Given the description of an element on the screen output the (x, y) to click on. 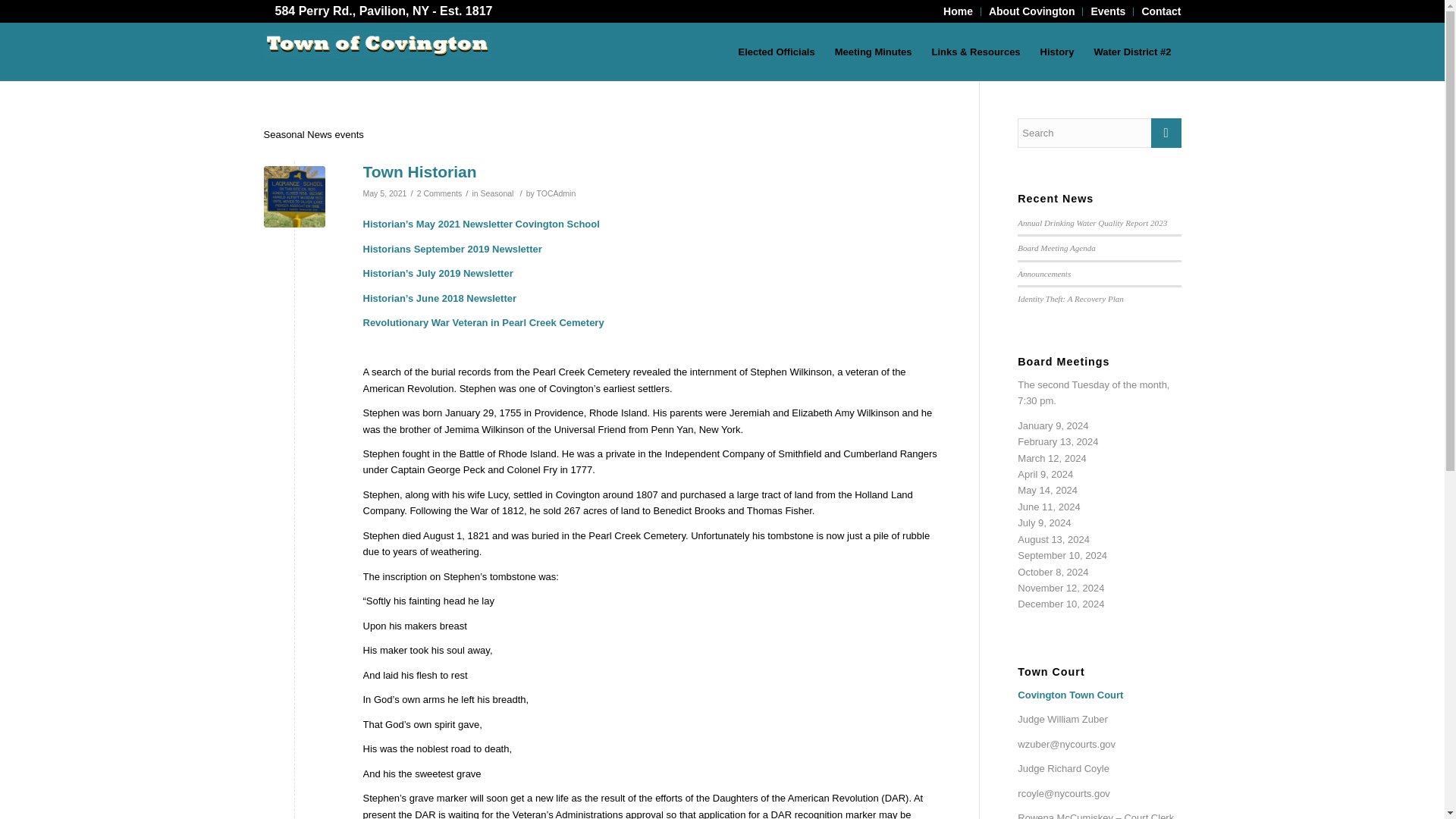
TOCAdmin (555, 193)
Annual Drinking Water Quality Report 2023 (1092, 222)
Home (957, 11)
Historians September 2019 Newsletter (451, 248)
Meeting Minutes (873, 51)
2 Comments (439, 193)
Contact (1160, 11)
Permanent Link: Town  Historian (419, 171)
Events (1107, 11)
Posts by TOCAdmin (555, 193)
